Given the description of an element on the screen output the (x, y) to click on. 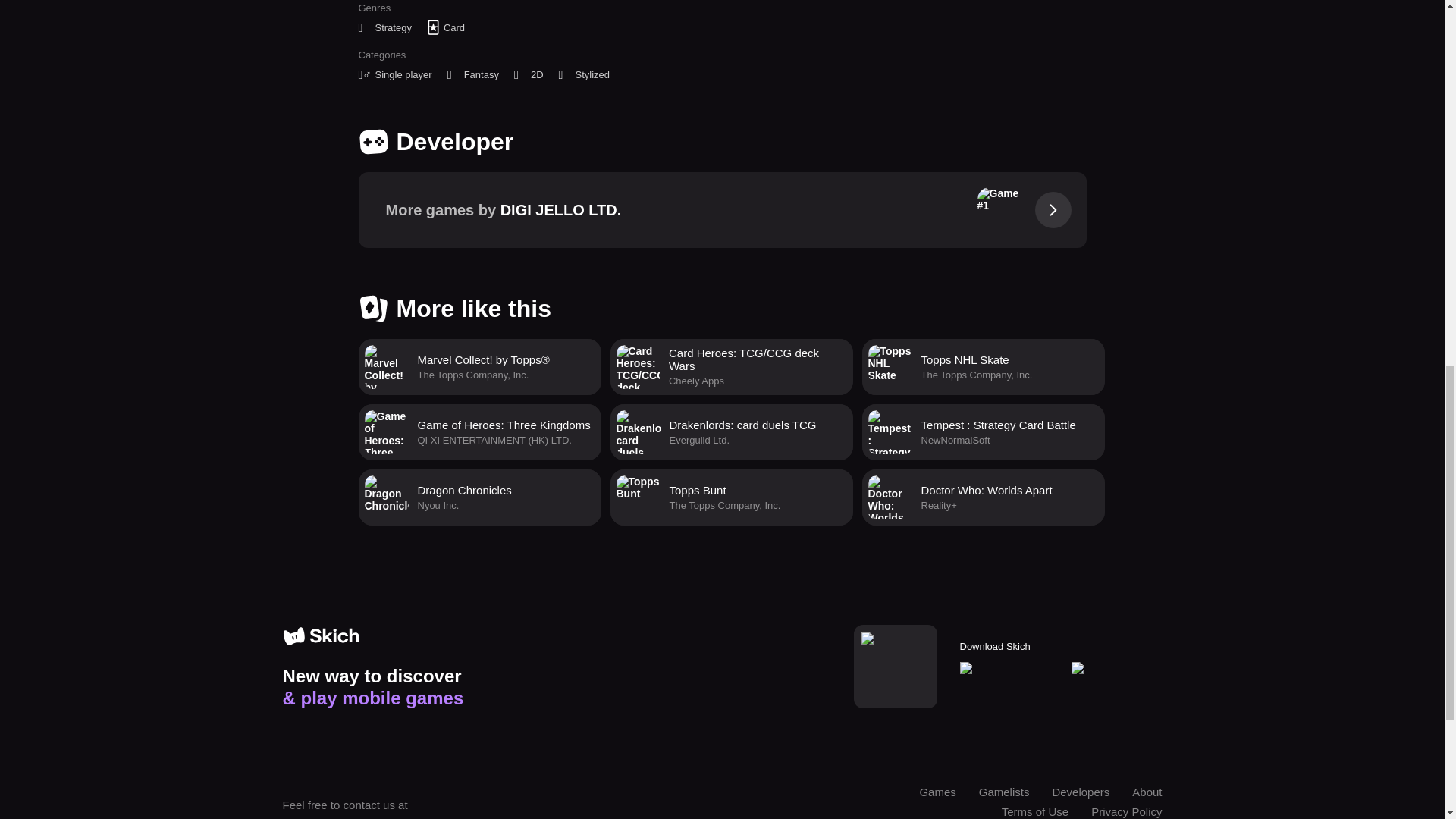
More games by DIGI JELLO LTD. (982, 432)
